Given the description of an element on the screen output the (x, y) to click on. 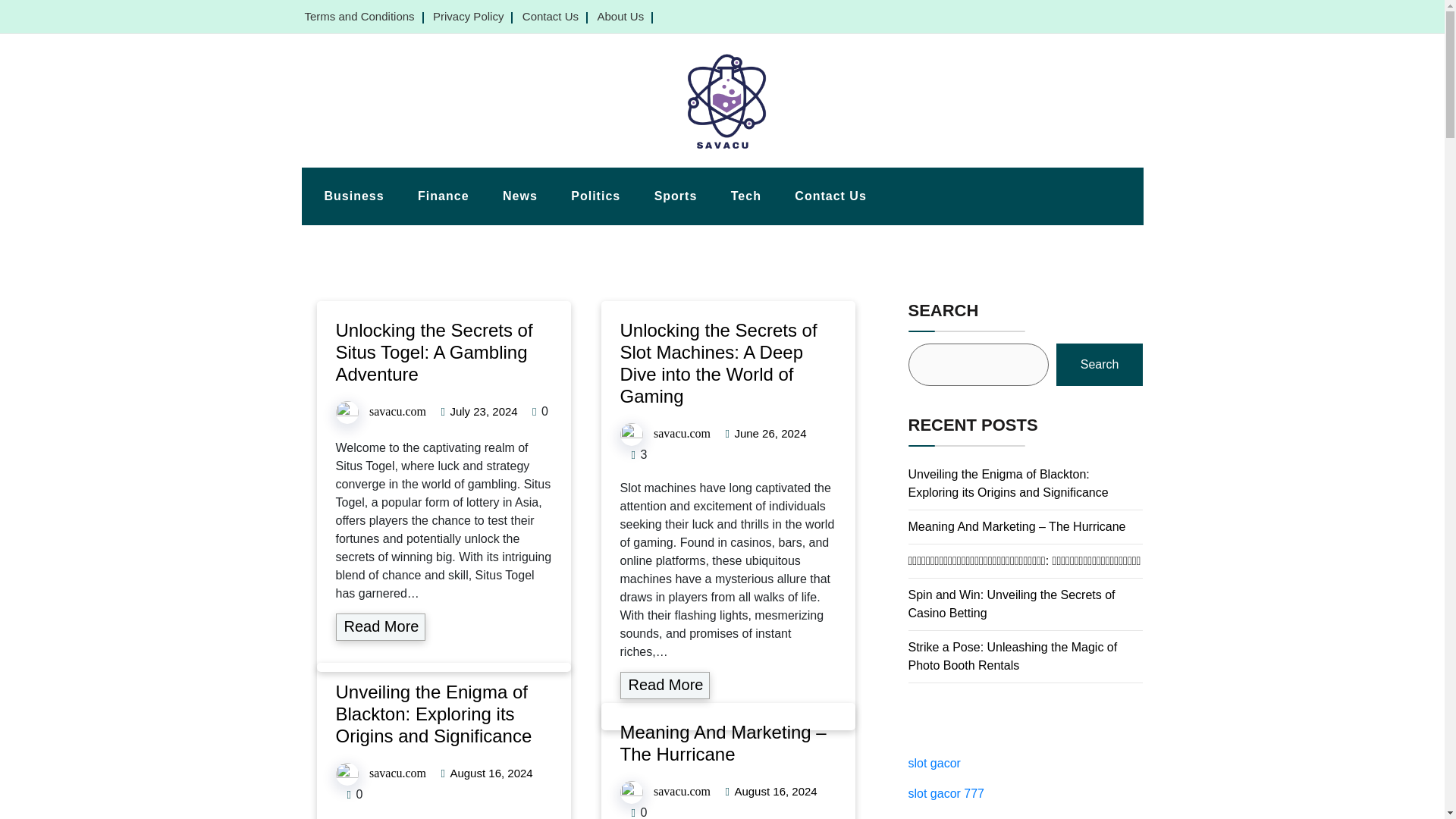
News (520, 196)
Unlocking the Secrets of Situs Togel: A Gambling Adventure (433, 352)
Politics (595, 196)
Tech (746, 196)
July 23, 2024 (482, 411)
savacu.com (397, 410)
Terms and Conditions (359, 15)
June 26, 2024 (769, 433)
Privacy Policy (467, 15)
savacu.com (681, 790)
